Given the description of an element on the screen output the (x, y) to click on. 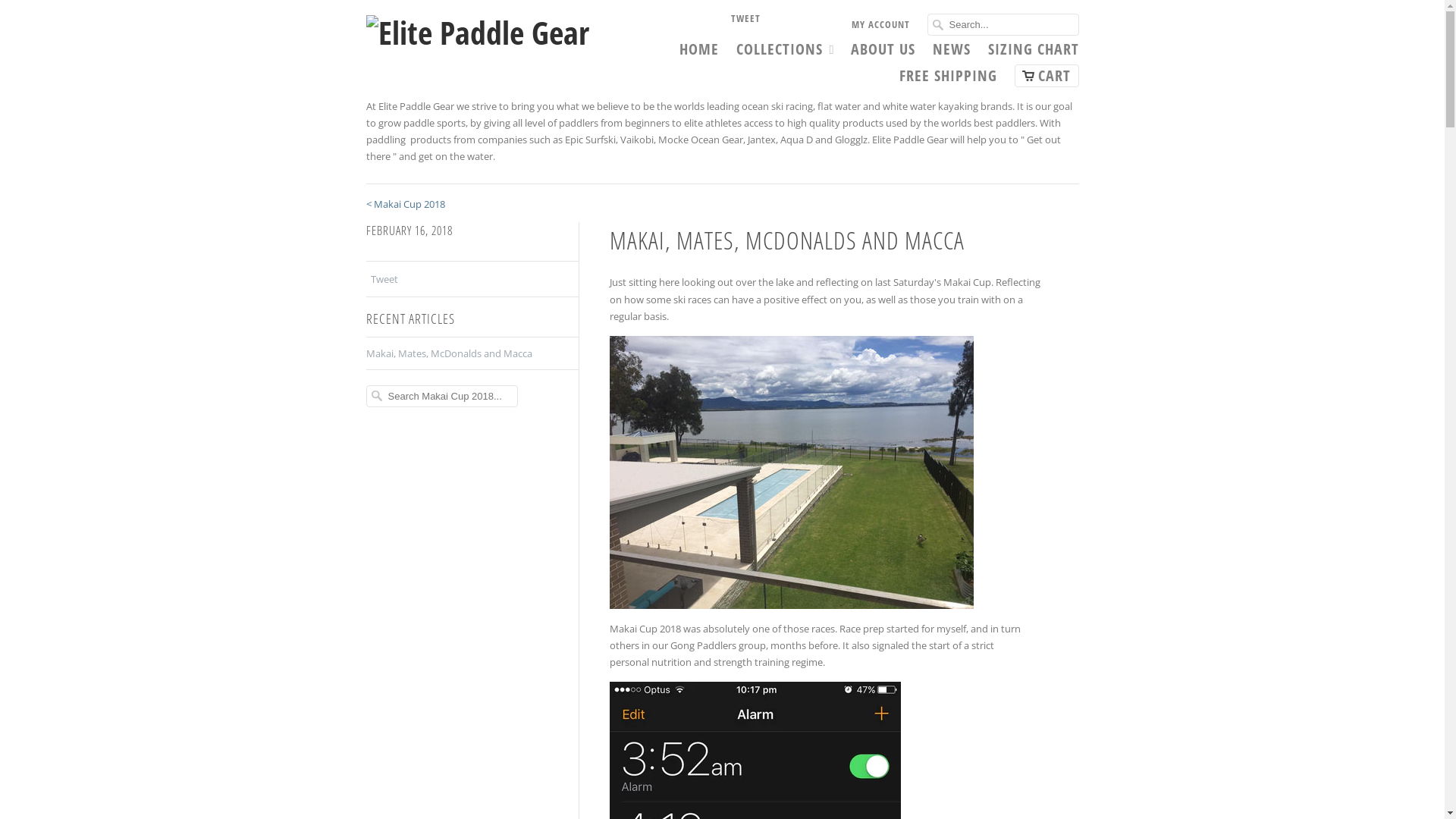
Tweet Element type: text (383, 278)
NEWS Element type: text (951, 52)
HOME Element type: text (698, 52)
< Makai Cup 2018 Element type: text (404, 203)
CART Element type: text (1046, 75)
MY ACCOUNT Element type: text (879, 27)
MAKAI, MATES, MCDONALDS AND MACCA Element type: text (786, 239)
TWEET Element type: text (745, 21)
SIZING CHART Element type: text (1032, 52)
Makai, Mates, McDonalds and Macca Element type: text (448, 353)
Elite Paddle Gear  Element type: hover (479, 30)
FREE SHIPPING Element type: text (948, 79)
ABOUT US Element type: text (882, 52)
